Given the description of an element on the screen output the (x, y) to click on. 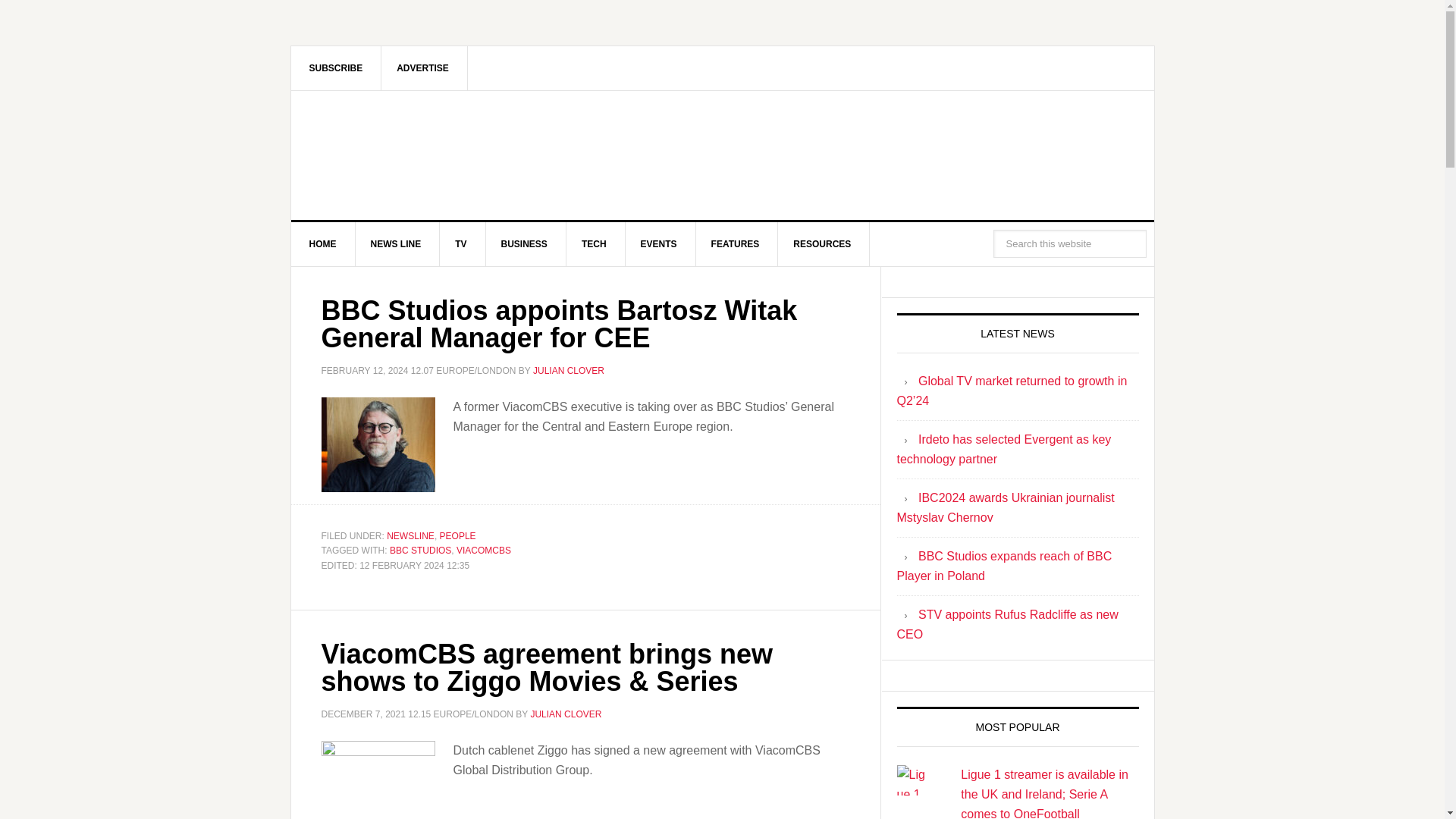
HOME (323, 243)
FEATURES (735, 243)
TV (460, 243)
PEOPLE (457, 535)
RESOURCES (821, 243)
VIACOMCBS (484, 550)
BBC STUDIOS (420, 550)
JULIAN CLOVER (565, 714)
